Given the description of an element on the screen output the (x, y) to click on. 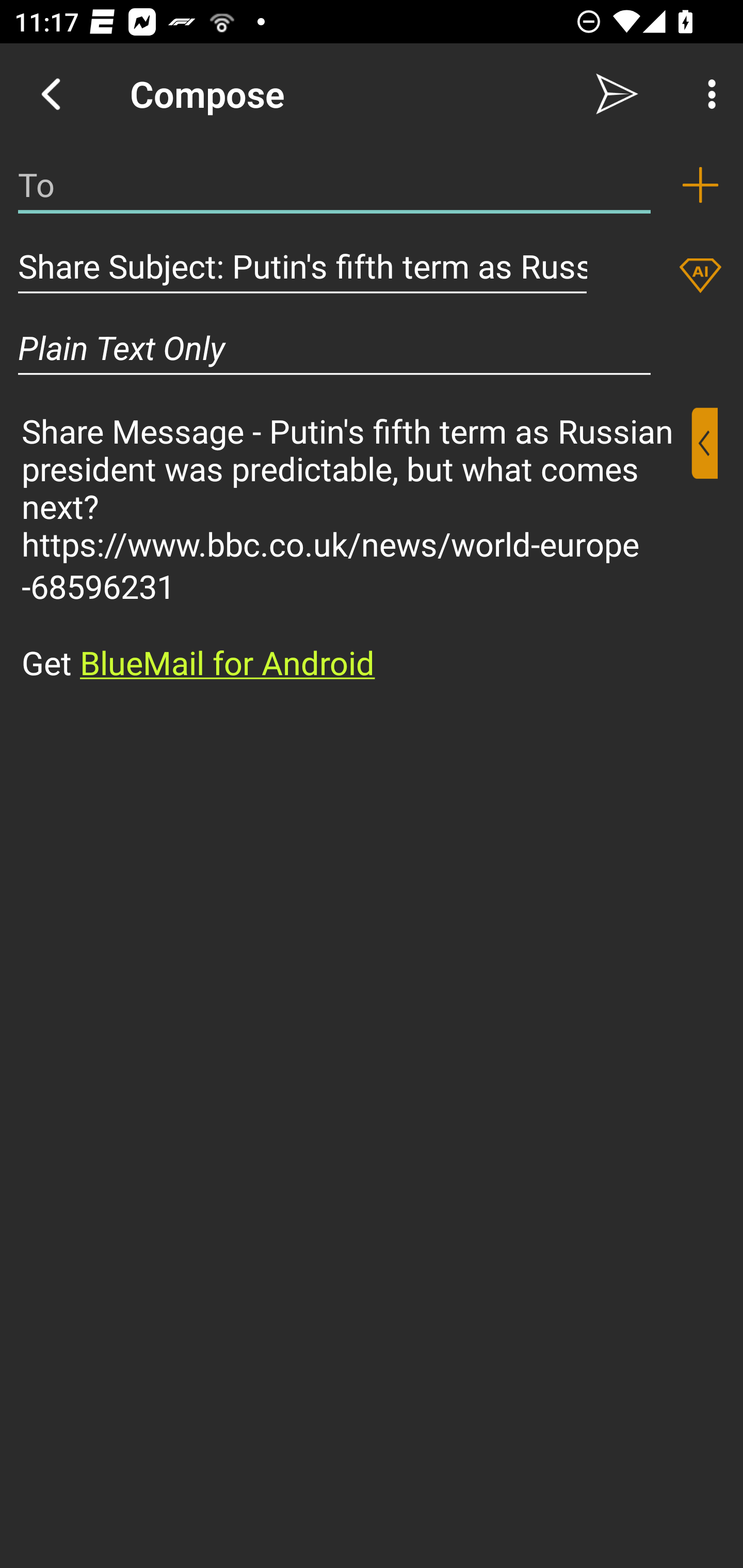
Navigate up (50, 93)
Send (616, 93)
More Options (706, 93)
To (334, 184)
Add recipient (To) (699, 184)
Plain Text Only (334, 347)
